Given the description of an element on the screen output the (x, y) to click on. 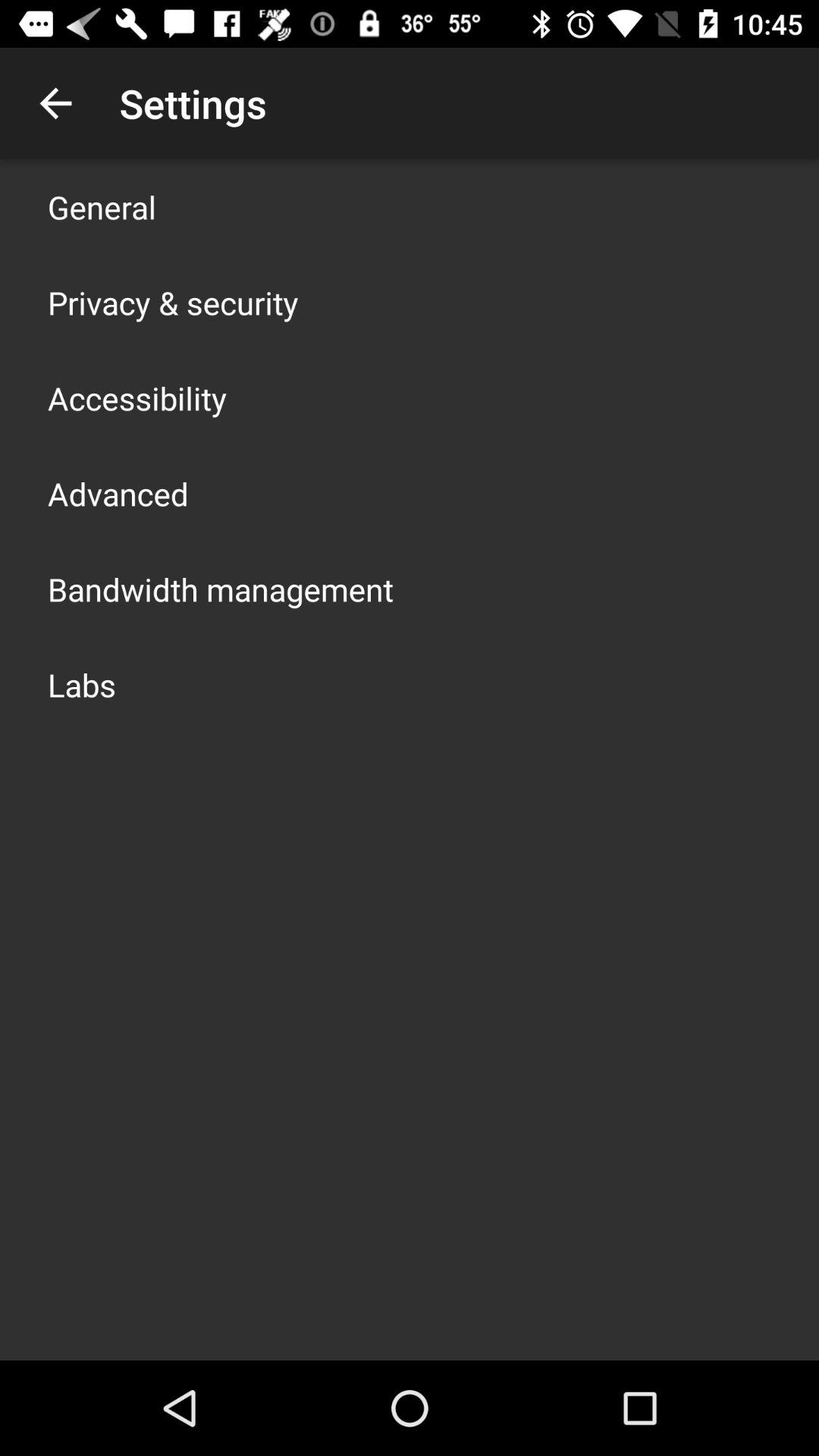
turn on the app above the bandwidth management (117, 493)
